Given the description of an element on the screen output the (x, y) to click on. 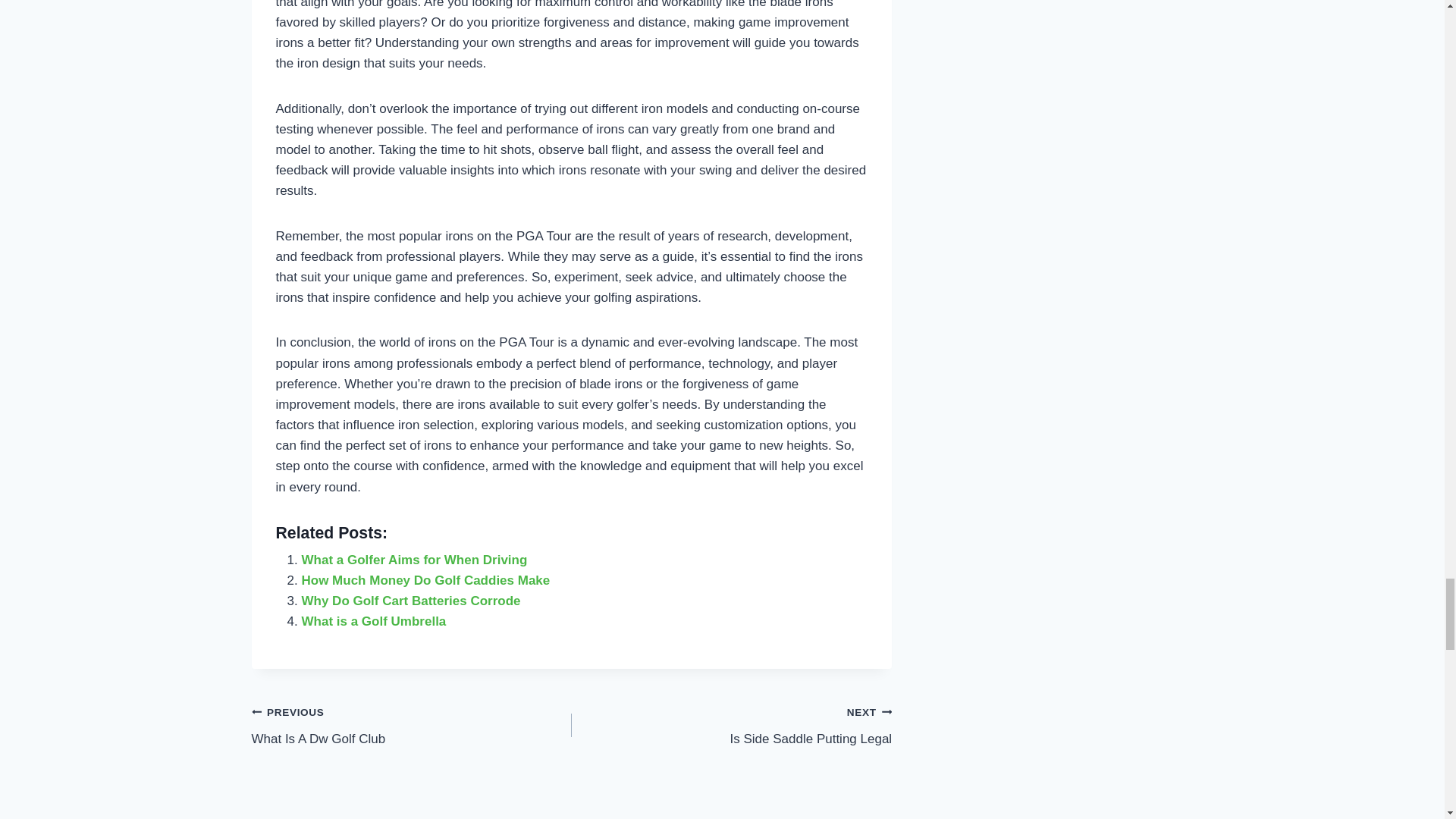
How Much Money Do Golf Caddies Make (425, 580)
How Much Money Do Golf Caddies Make (425, 580)
Why Do Golf Cart Batteries Corrode (411, 600)
What is a Golf Umbrella (731, 725)
What a Golfer Aims for When Driving (373, 621)
What is a Golf Umbrella (414, 559)
What a Golfer Aims for When Driving (373, 621)
Why Do Golf Cart Batteries Corrode (414, 559)
